Given the description of an element on the screen output the (x, y) to click on. 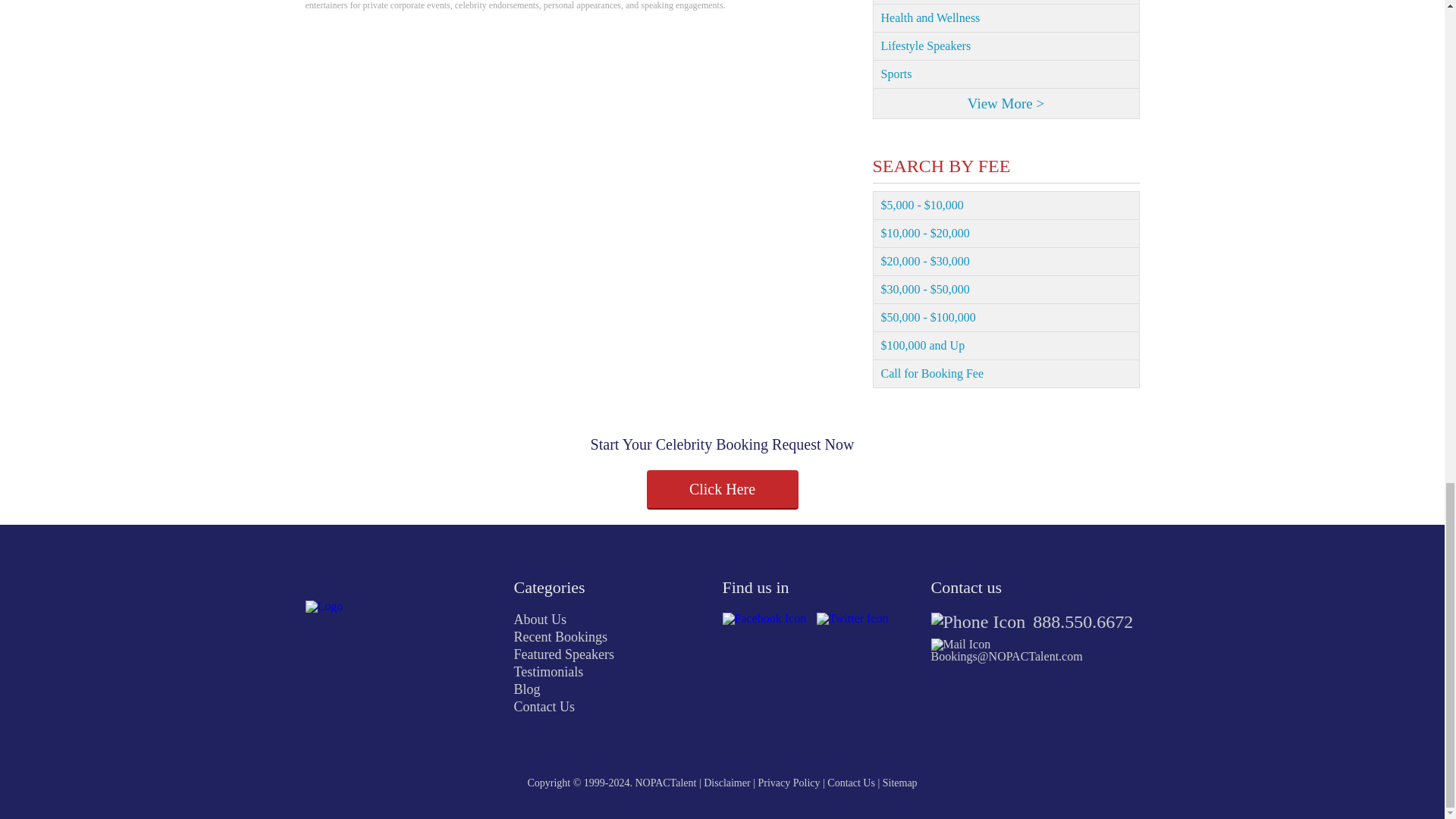
Entertainment (1005, 2)
Lifestyle Speakers (1005, 46)
Health and Wellness (1005, 18)
Sports (1005, 74)
